Given the description of an element on the screen output the (x, y) to click on. 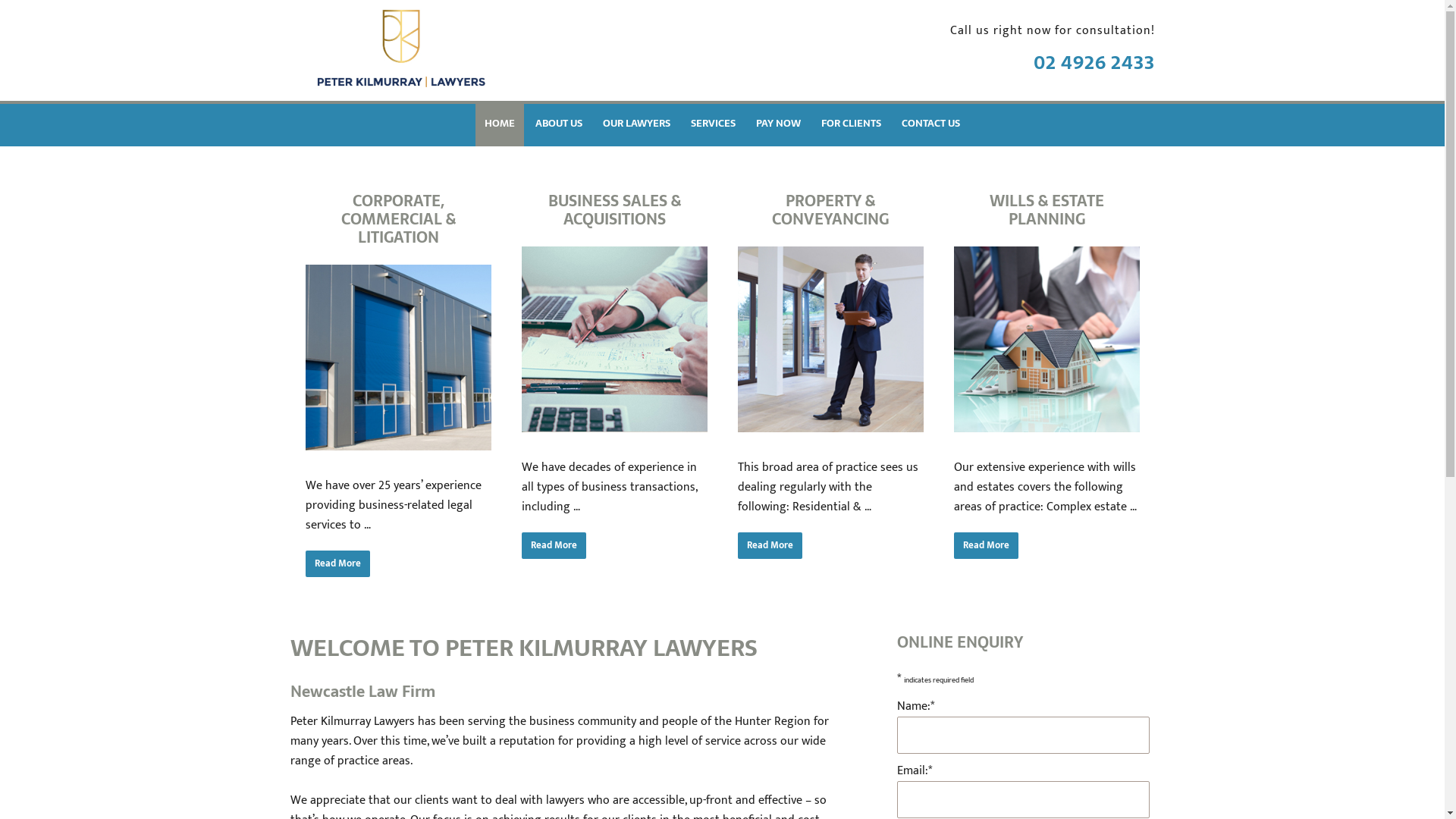
02 4926 2433 Element type: text (1093, 62)
OUR LAWYERS Element type: text (636, 123)
SERVICES Element type: text (712, 123)
PAY NOW Element type: text (777, 123)
Read More Element type: text (985, 545)
Read More Element type: text (769, 545)
FOR CLIENTS Element type: text (851, 123)
Read More Element type: text (336, 563)
Peter Kilmurray Lawyers Element type: hover (398, 75)
HOME Element type: text (499, 123)
ABOUT US Element type: text (558, 123)
CONTACT US Element type: text (930, 123)
Read More Element type: text (553, 545)
